Given the description of an element on the screen output the (x, y) to click on. 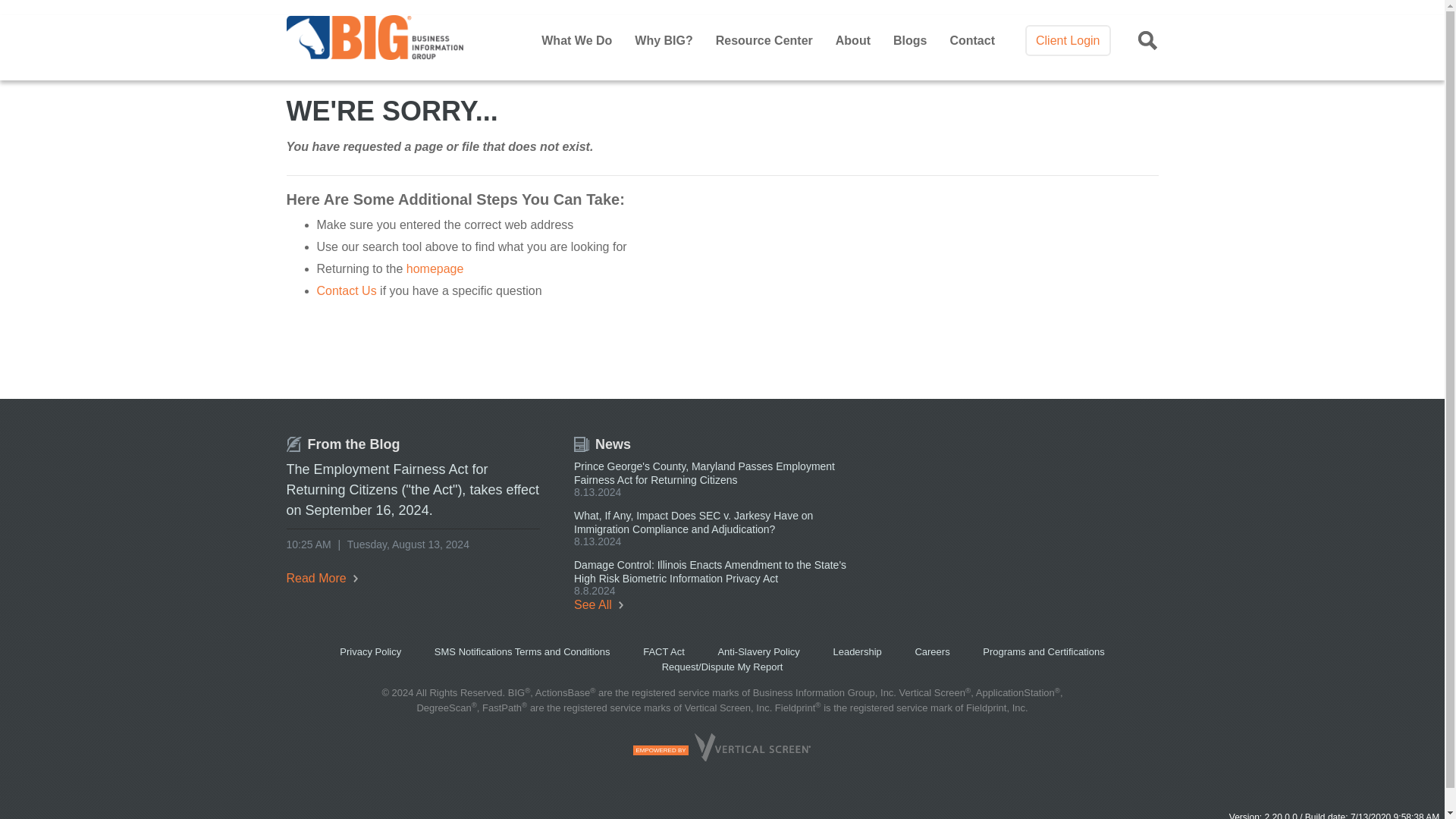
See All (598, 604)
News (601, 444)
Programs and Certifications (1043, 651)
homepage (435, 268)
EMPOWERED BY (721, 757)
About (852, 40)
FACT Act (664, 651)
Search (991, 113)
Contact (971, 40)
